Given the description of an element on the screen output the (x, y) to click on. 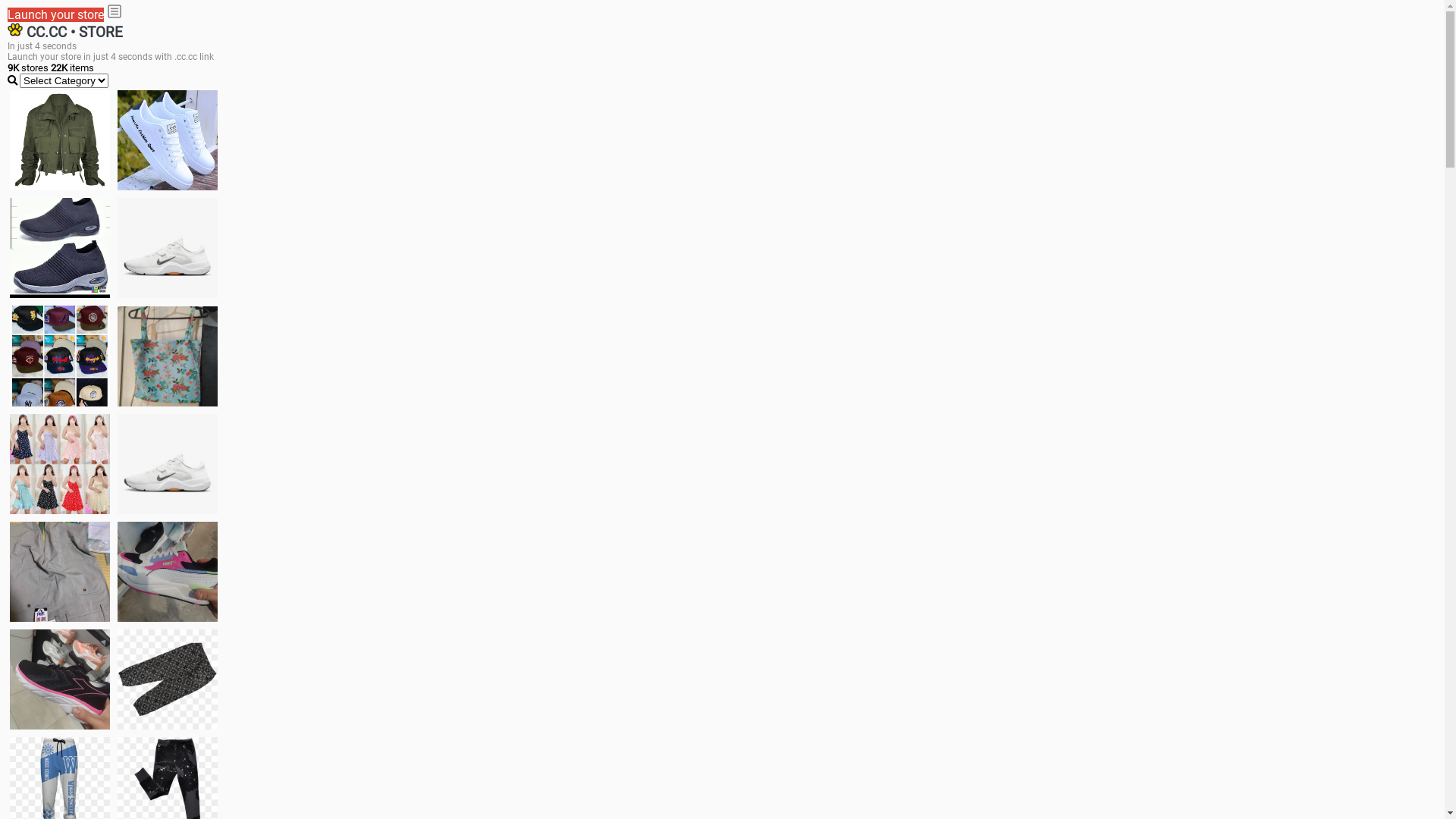
Ukay cloth Element type: hover (167, 356)
Things we need Element type: hover (59, 355)
shoes for boys Element type: hover (59, 247)
Shoes for boys Element type: hover (167, 247)
Launch your store Element type: text (55, 14)
Shoes Element type: hover (167, 464)
Dress/square nect top Element type: hover (59, 464)
Zapatillas Element type: hover (59, 679)
white shoes Element type: hover (167, 140)
Short pant Element type: hover (167, 679)
Zapatillas pumas Element type: hover (167, 571)
jacket Element type: hover (59, 140)
